Given the description of an element on the screen output the (x, y) to click on. 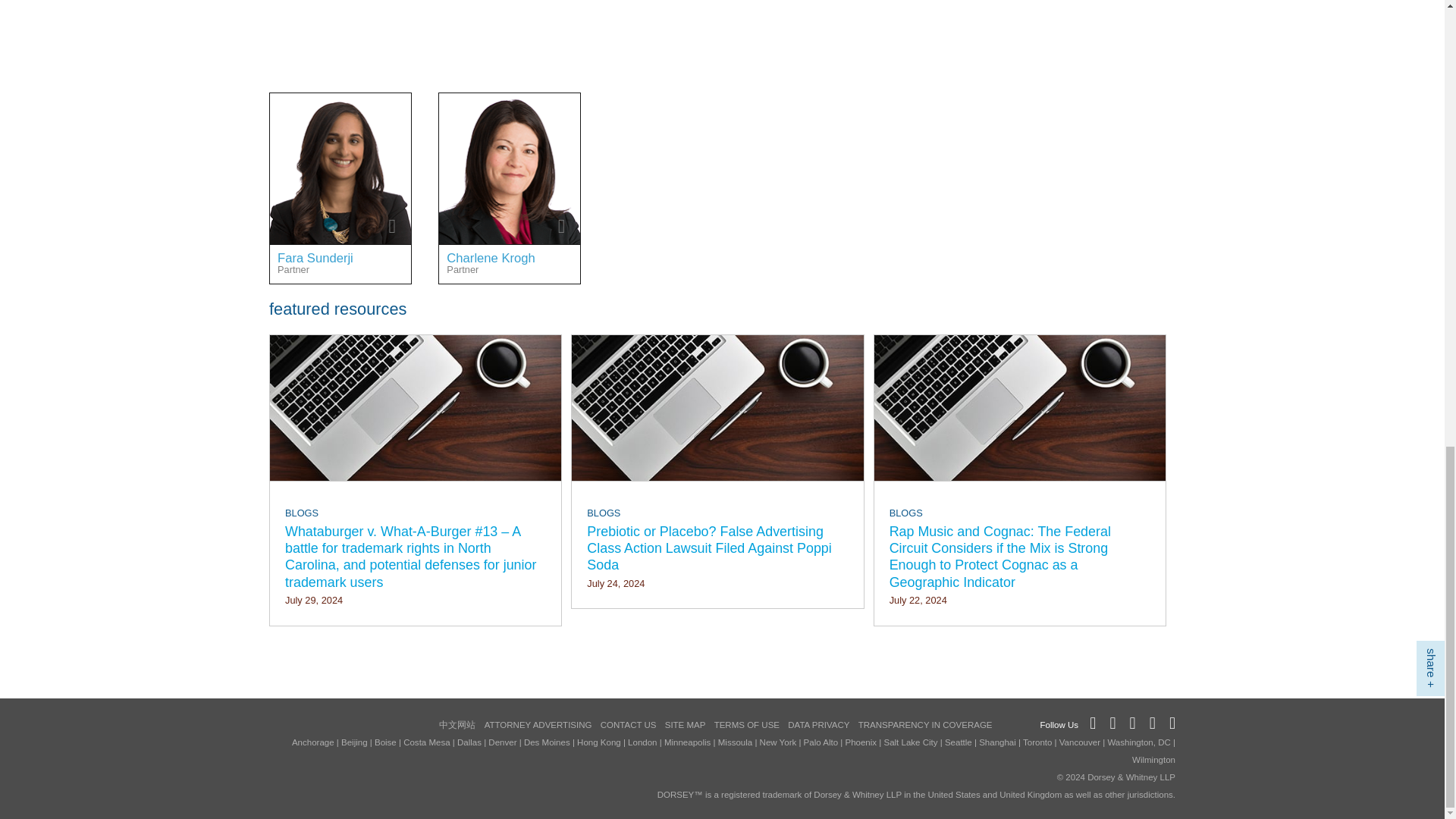
YouTube video player (481, 29)
Denver (543, 110)
New York (367, 110)
